Given the description of an element on the screen output the (x, y) to click on. 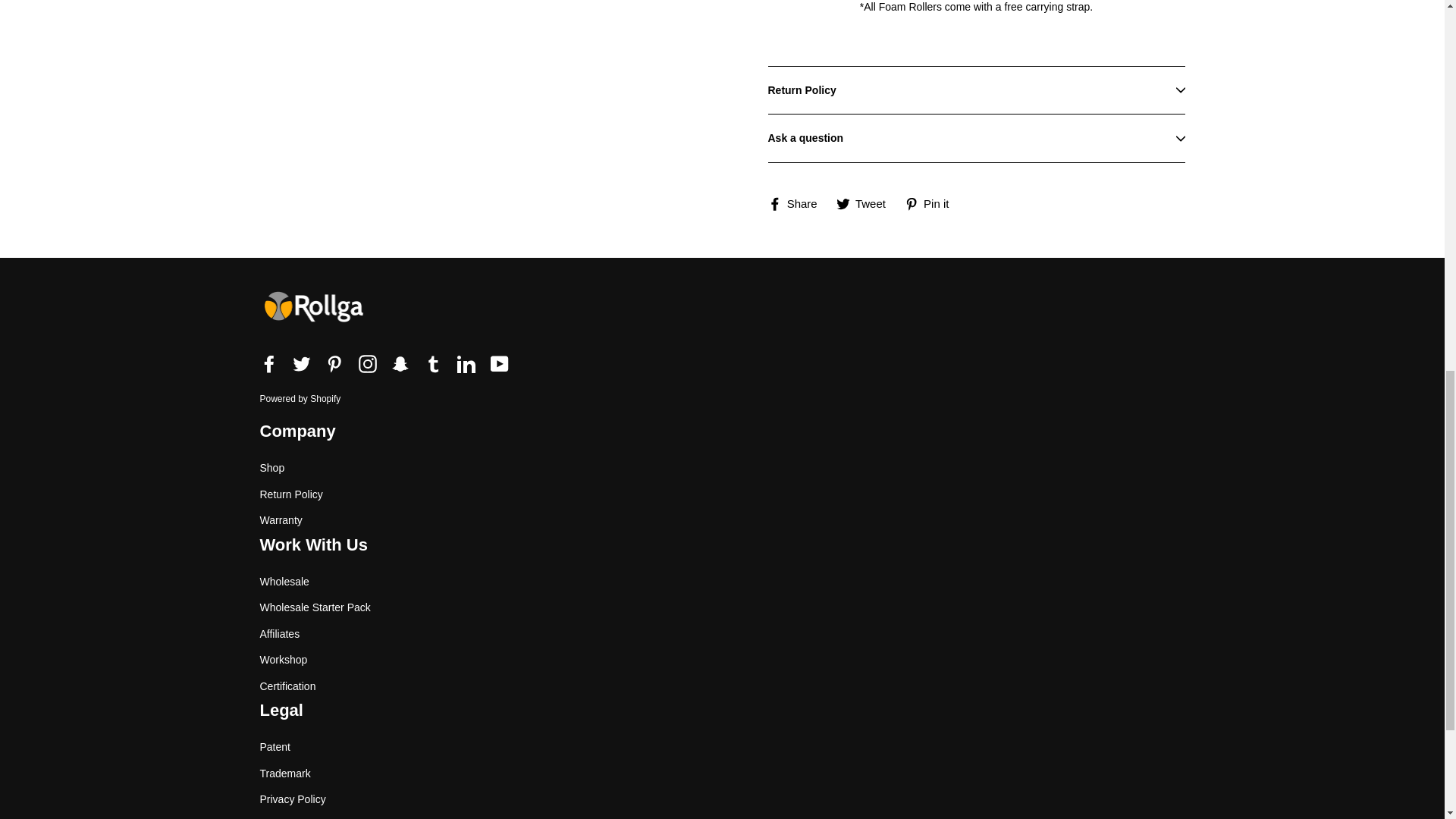
Rollga on Pinterest (333, 362)
Rollga on YouTube (499, 362)
Rollga on Snapchat (400, 362)
Rollga on LinkedIn (466, 362)
Rollga on Tumblr (433, 362)
Rollga on Twitter (301, 362)
Share on Facebook (797, 202)
Rollga on Instagram (367, 362)
Tweet on Twitter (865, 202)
Pin on Pinterest (932, 202)
